Given the description of an element on the screen output the (x, y) to click on. 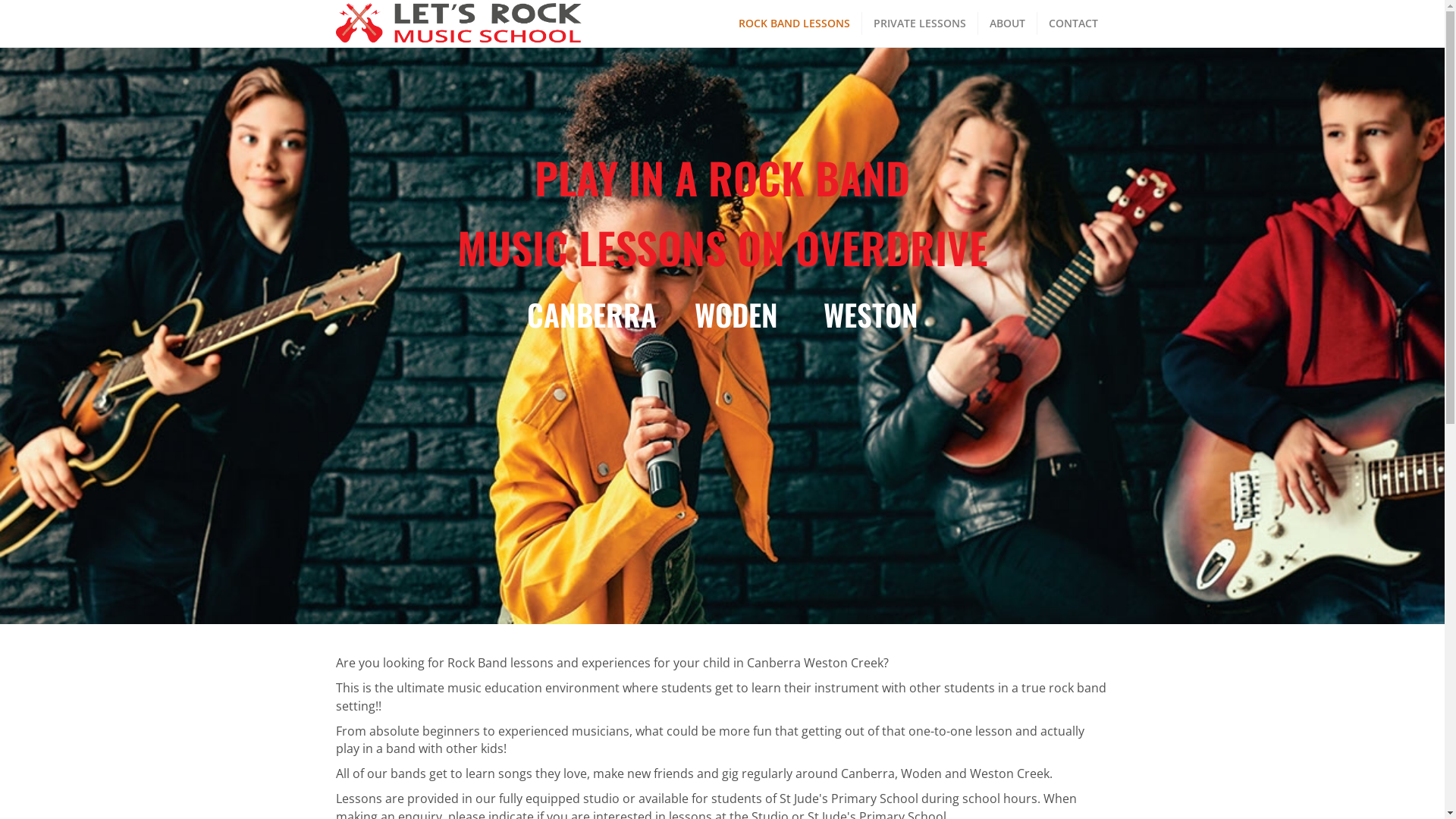
CONTACT Element type: text (1073, 23)
Piano Lessons Canberra Weston Element type: text (416, 712)
ROCK BAND LESSONS Element type: text (793, 23)
PRIVATE LESSONS Element type: text (919, 23)
Guitar Lessons Canberra Weston Creek Element type: text (434, 691)
ABOUT Element type: text (1007, 23)
Rock Band Lessons Canberra Weston Creek Element type: text (445, 669)
Testimonials Element type: text (367, 733)
